Given the description of an element on the screen output the (x, y) to click on. 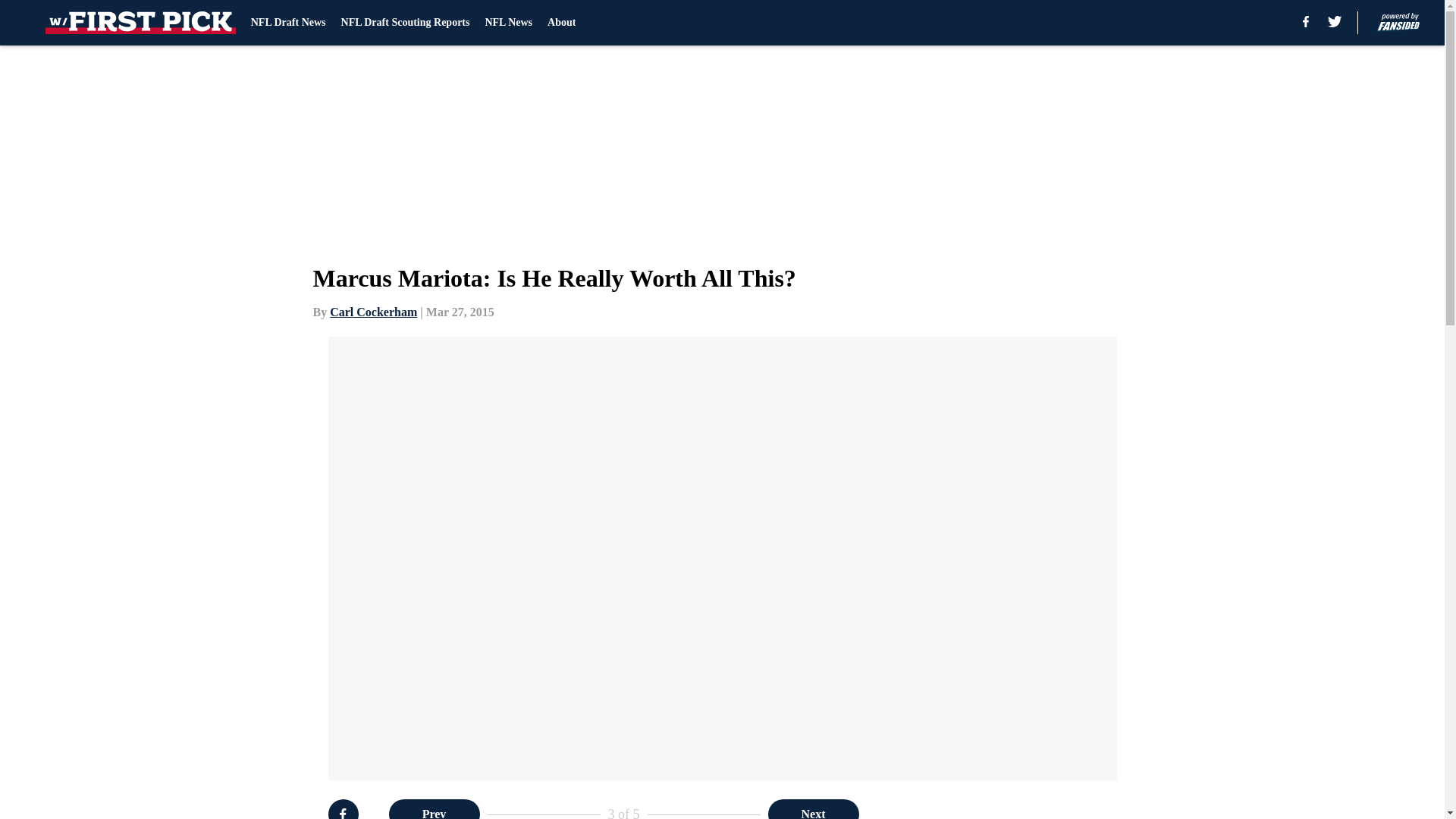
Next (813, 809)
NFL News (508, 22)
NFL Draft News (288, 22)
NFL Draft Scouting Reports (405, 22)
About (561, 22)
Carl Cockerham (373, 311)
Prev (433, 809)
